Given the description of an element on the screen output the (x, y) to click on. 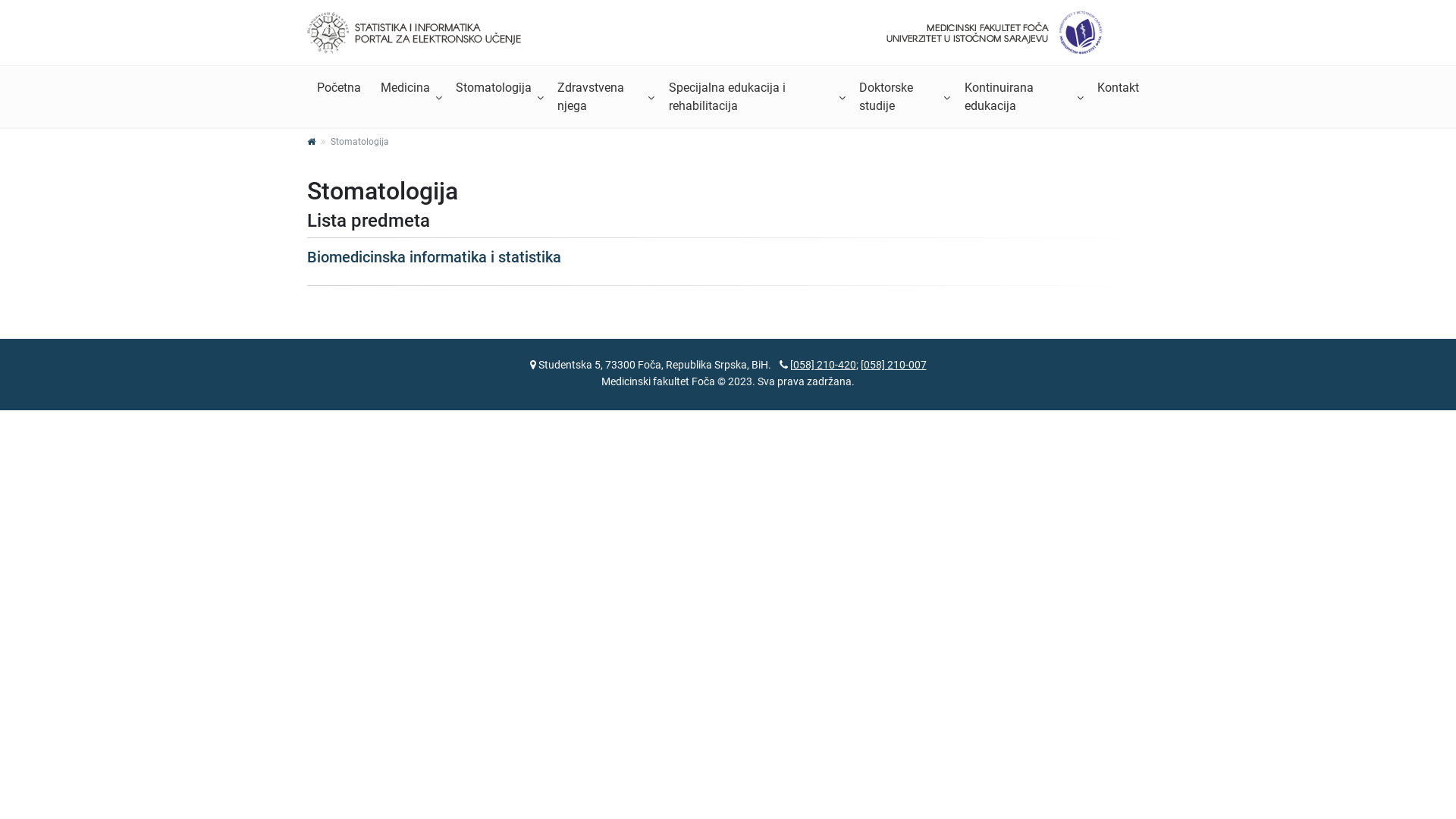
Biomedicinska informatika i statistika Element type: text (434, 256)
Doktorske studije Element type: text (901, 96)
Stomatologija Element type: text (496, 87)
Kontakt Element type: text (1117, 87)
Kontinuirana edukacija Element type: text (1020, 96)
Zdravstvena njega Element type: text (602, 96)
[058] 210-420 Element type: text (823, 364)
Specijalna edukacija i rehabilitacija Element type: text (754, 96)
[058] 210-007 Element type: text (892, 364)
Medicina Element type: text (407, 87)
